Given the description of an element on the screen output the (x, y) to click on. 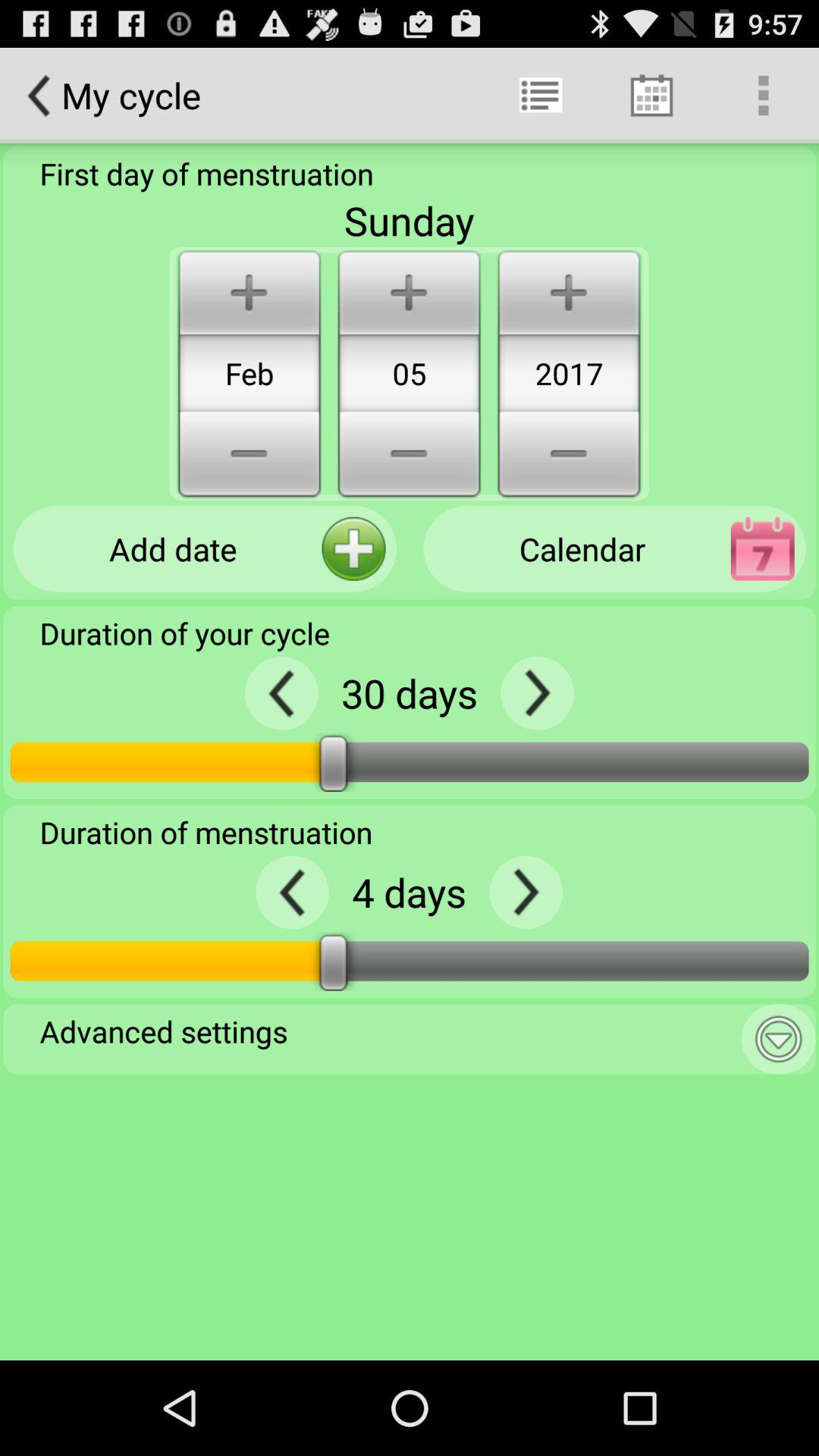
enter the setting box (778, 1039)
